Given the description of an element on the screen output the (x, y) to click on. 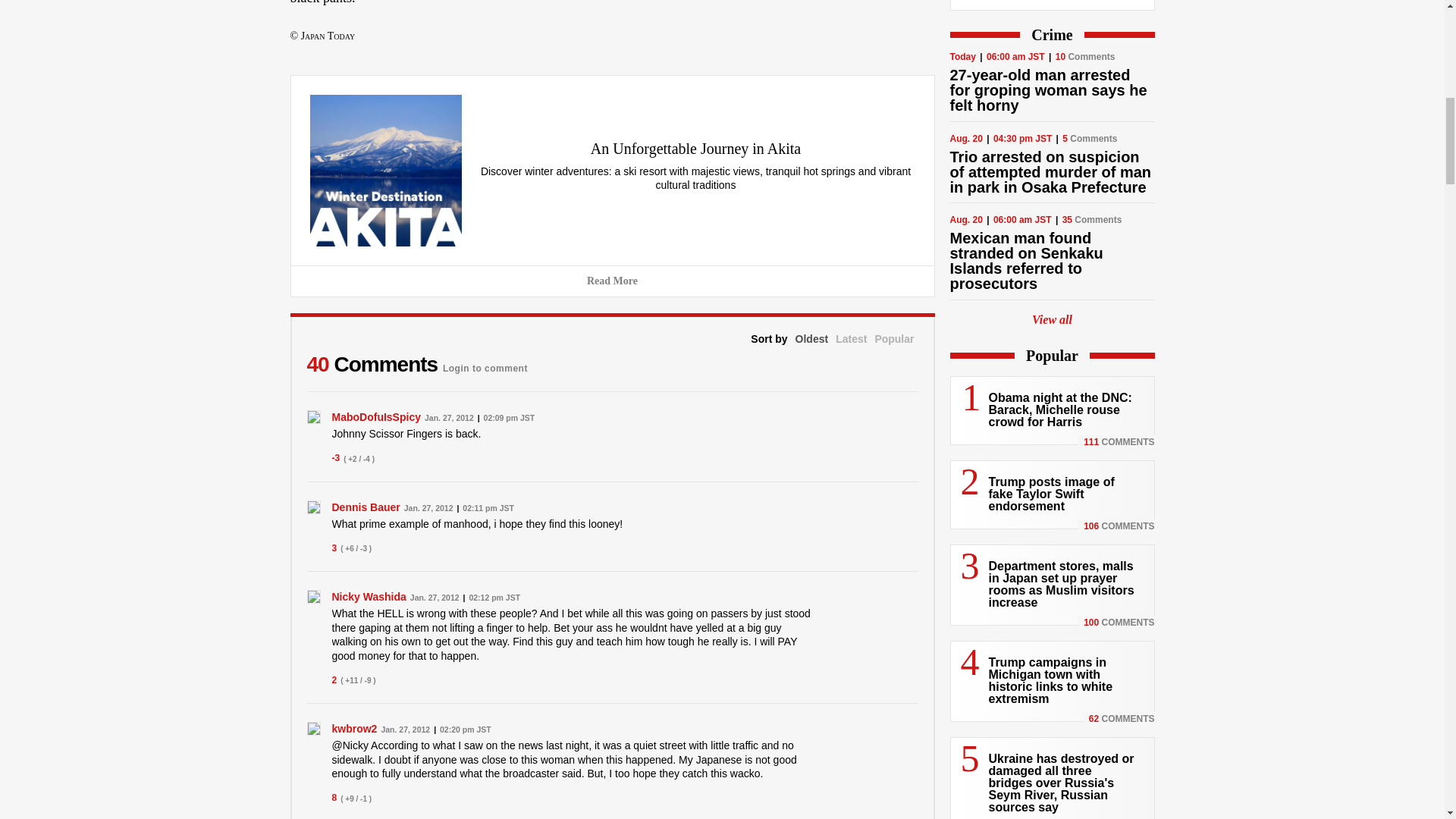
Login to comment (484, 363)
Trump posts image of fake Taylor Swift endorsement (1051, 493)
